Given the description of an element on the screen output the (x, y) to click on. 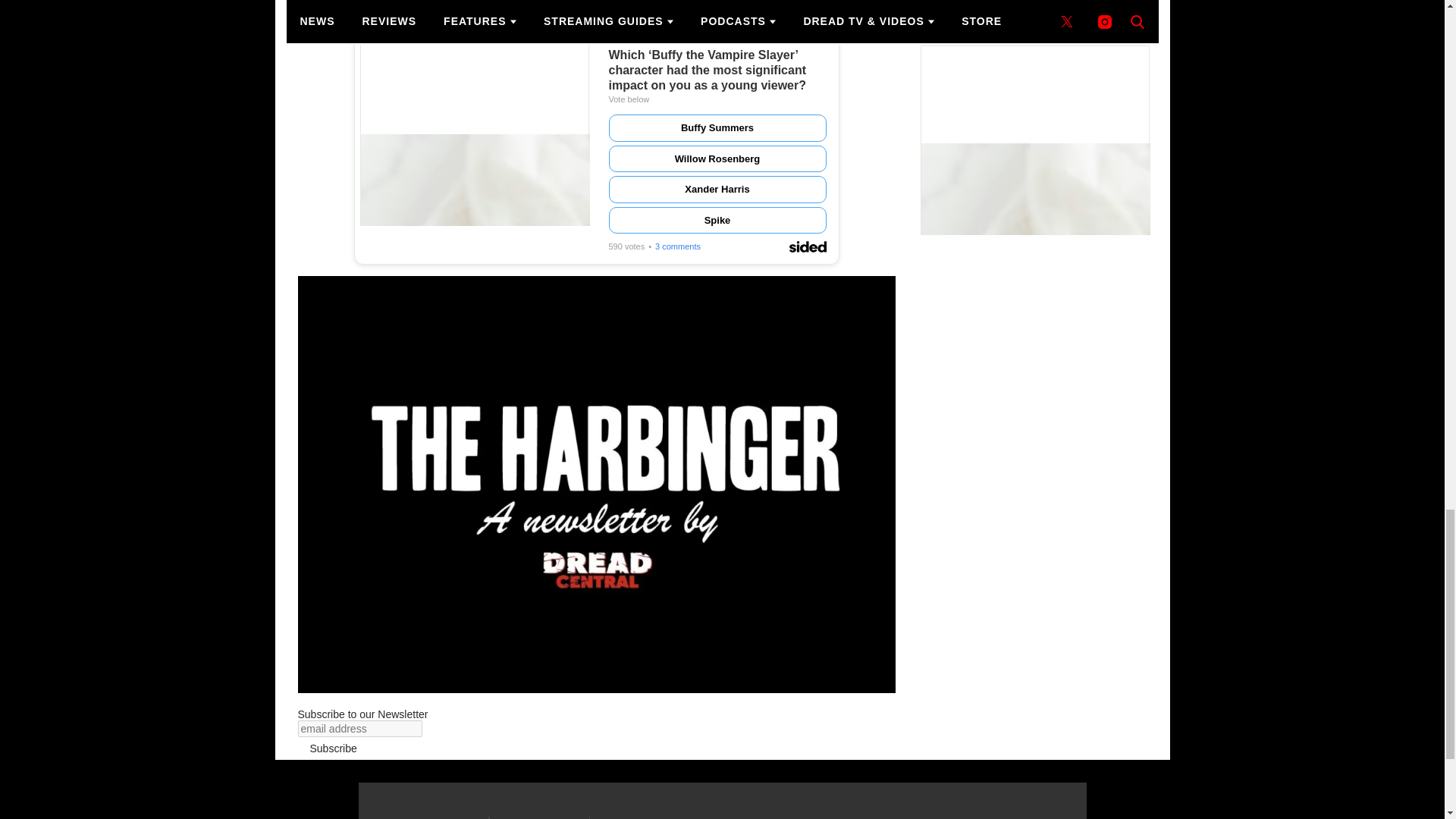
Subscribe (332, 748)
